Given the description of an element on the screen output the (x, y) to click on. 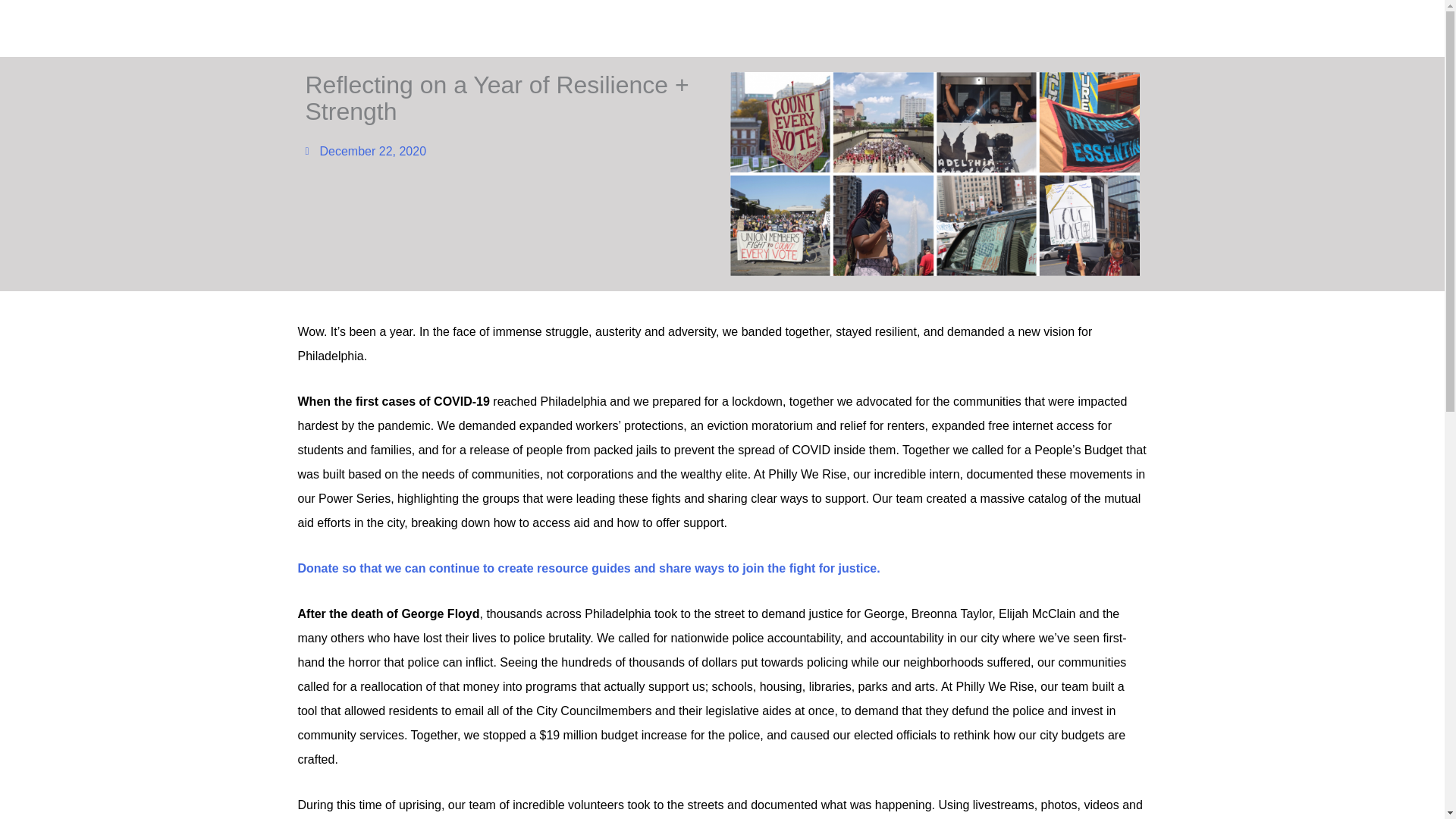
About (1355, 28)
Sign Up (1048, 28)
Join An Organization (1125, 28)
December 22, 2020 (365, 151)
Mutual Aid Resources (1276, 28)
